Given the description of an element on the screen output the (x, y) to click on. 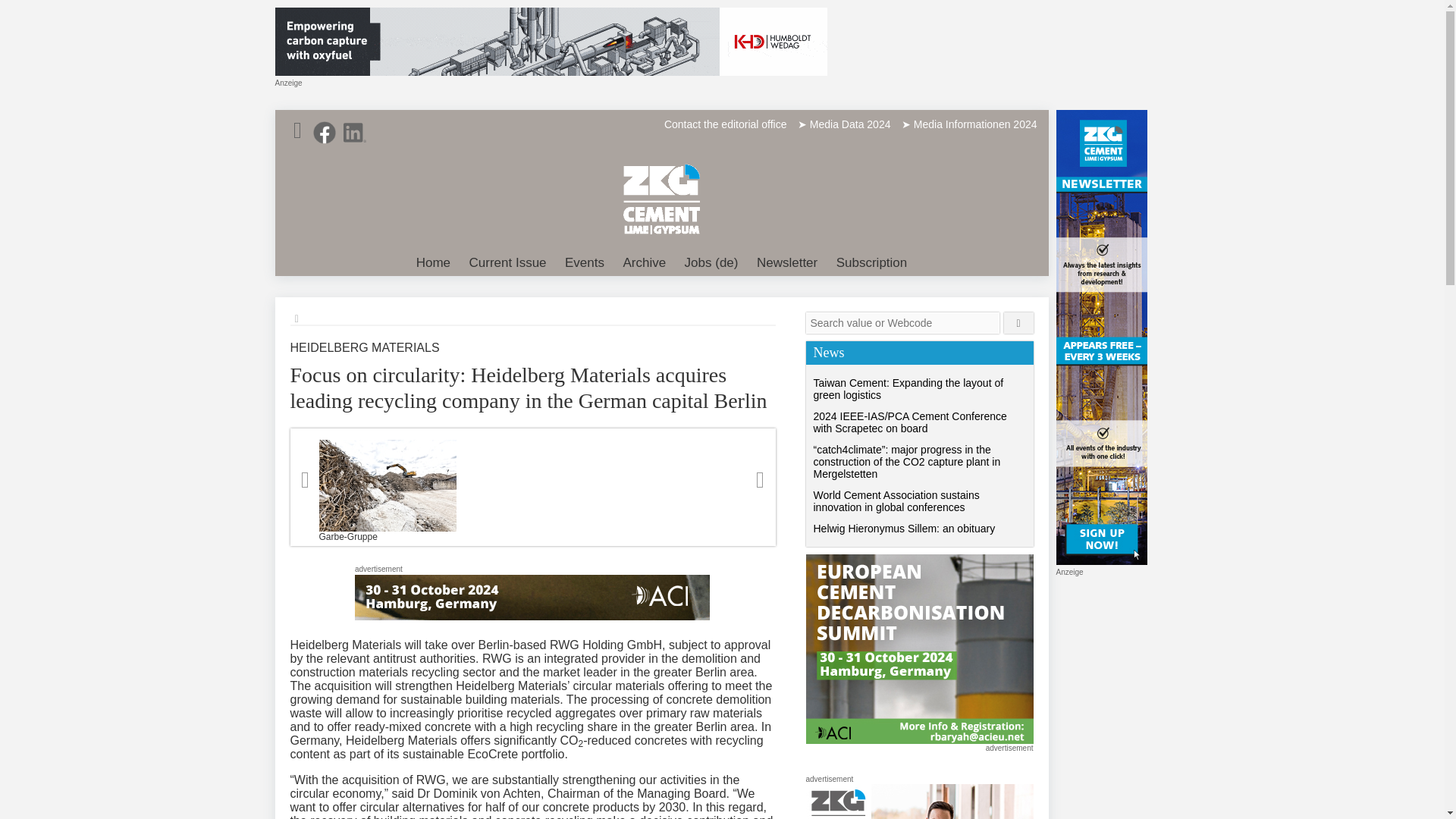
Current Issue (507, 263)
Events (584, 263)
Suchen (1018, 322)
Newsletter (787, 263)
Home (433, 263)
Archive (643, 263)
Contact the editorial office (725, 123)
Subscription (871, 263)
Search value or Webcode (901, 322)
